Given the description of an element on the screen output the (x, y) to click on. 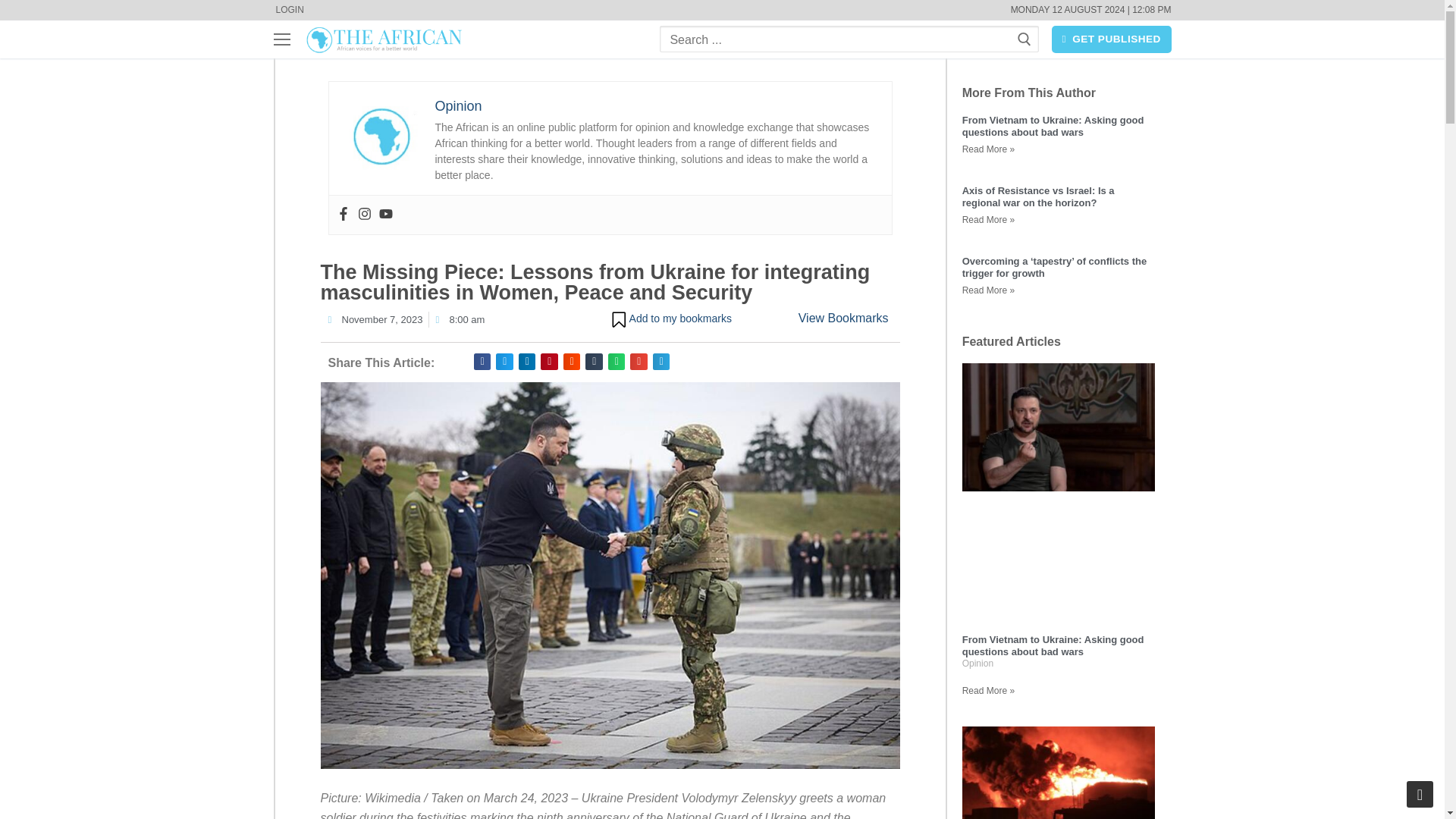
Search for: (849, 39)
November 7, 2023 (374, 319)
Add to my bookmarks (671, 319)
GET PUBLISHED (1111, 39)
LOGIN (288, 11)
Opinion (458, 105)
Bookmark This (671, 319)
View Bookmarks (842, 318)
